Given the description of an element on the screen output the (x, y) to click on. 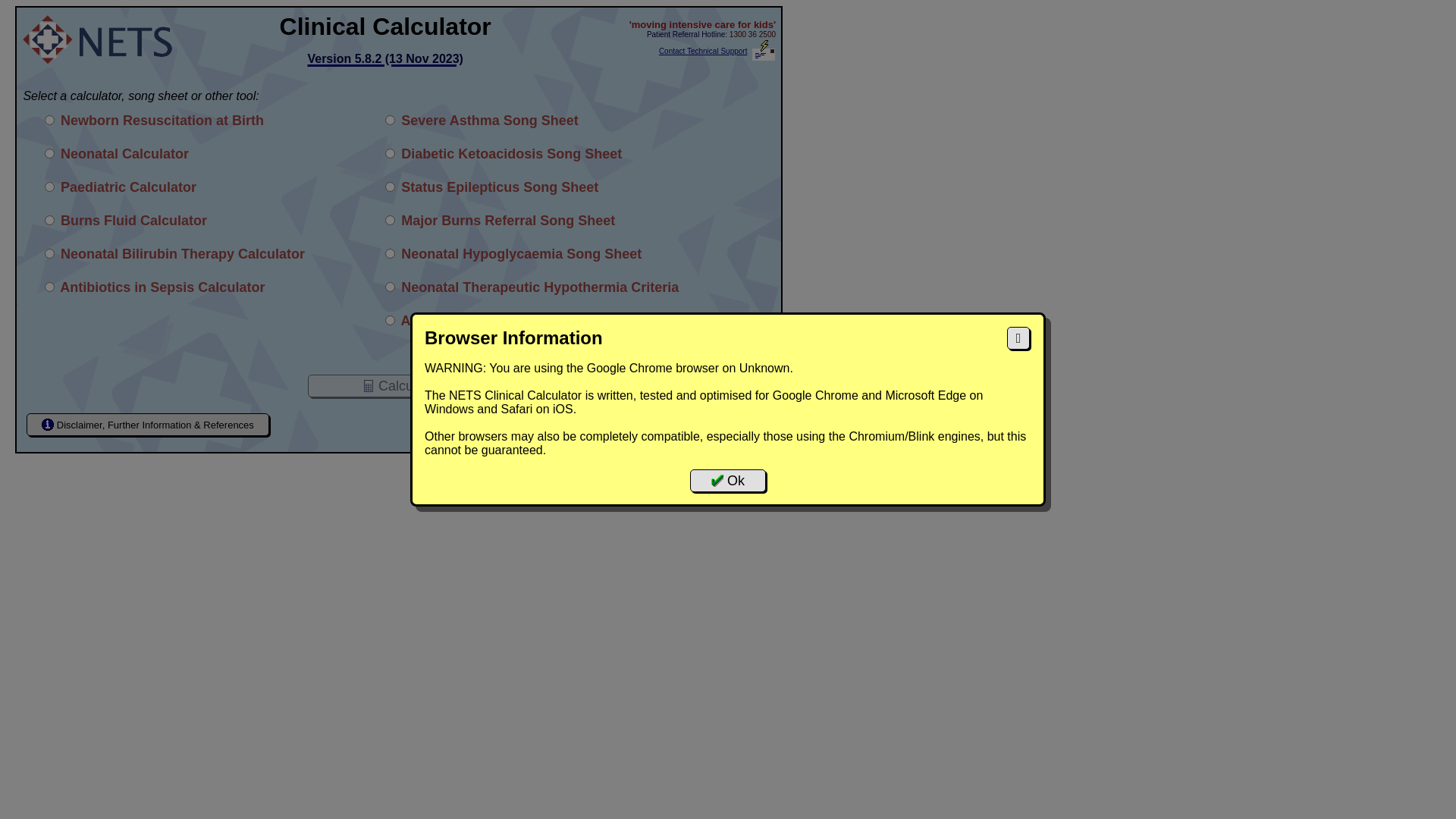
Seizures Element type: text (390, 186)
BurnsSong Element type: text (390, 220)
PaedCalc Element type: text (49, 186)
AdhocSols Element type: text (390, 320)
NeoBili Element type: text (49, 253)
DKA Element type: text (390, 153)
Contact Technical Support Element type: text (702, 51)
Version 5.8.2 (13 Nov 2023) Element type: text (384, 54)
 Disclaimer, Further Information & References Element type: text (147, 424)
 Ok Element type: text (727, 480)
NeoCalc Element type: text (49, 153)
SevAsthma Element type: text (390, 120)
Cooling Element type: text (390, 286)
SepsisABx Element type: text (49, 286)
NeoHypo Element type: text (390, 253)
ResusAtBirth Element type: text (49, 120)
 Calculate Element type: text (398, 385)
BurnsCalc Element type: text (49, 220)
